Given the description of an element on the screen output the (x, y) to click on. 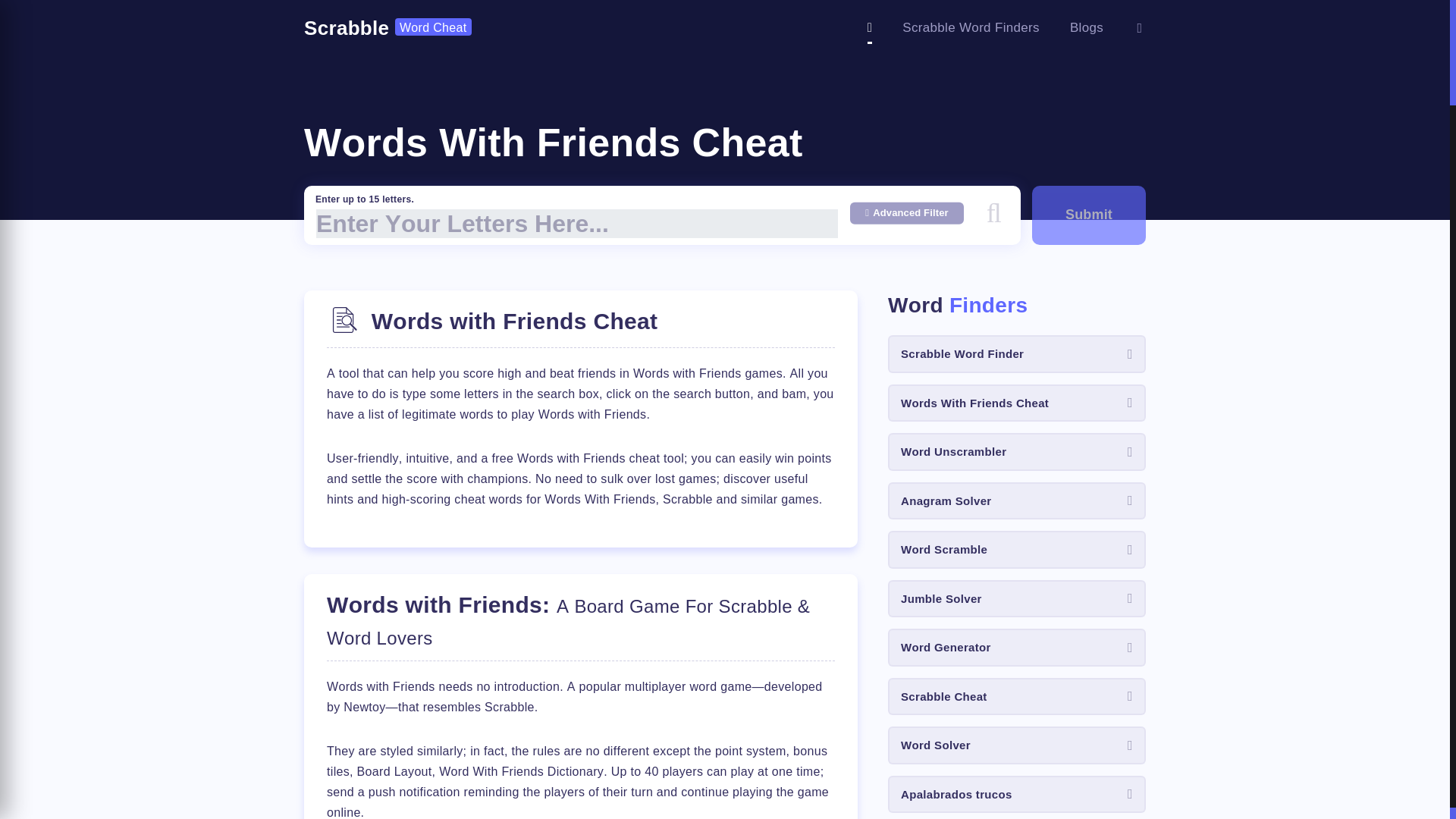
Scrabble Word Finder (1016, 353)
Word Scramble (1016, 549)
Scrabble Cheat (1016, 696)
Apalabrados trucos (1016, 794)
Word Generator (1016, 647)
Words With Friends Cheat (1016, 403)
Scrabble Word Finders (970, 28)
Scrabble Word Cheat (387, 28)
Blogs (1086, 28)
Jumble Solver (1016, 598)
